Given the description of an element on the screen output the (x, y) to click on. 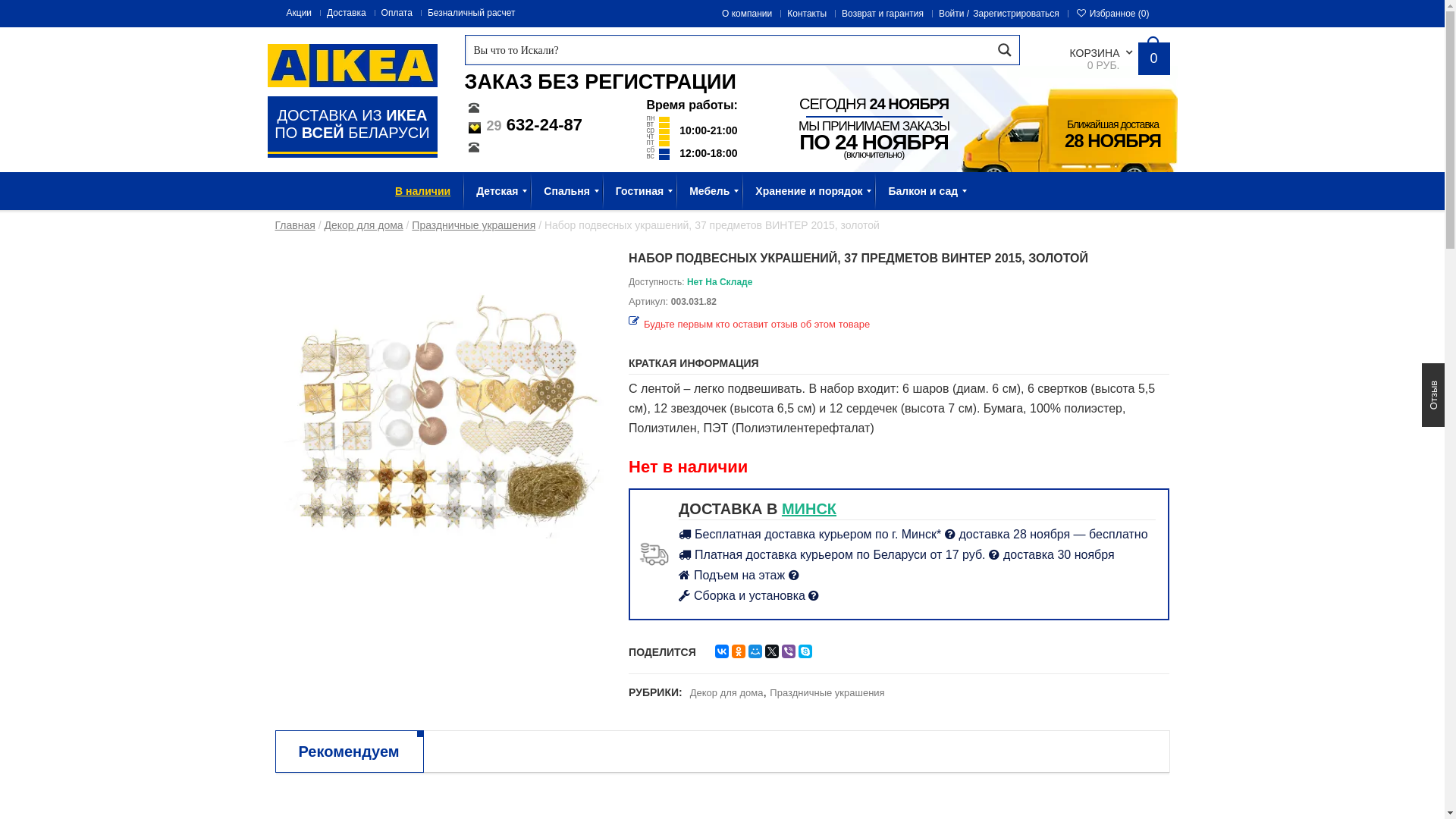
Skype Element type: hover (805, 651)
Viber Element type: hover (788, 651)
29 632-24-87 Element type: text (522, 124)
Twitter Element type: hover (771, 651)
